Given the description of an element on the screen output the (x, y) to click on. 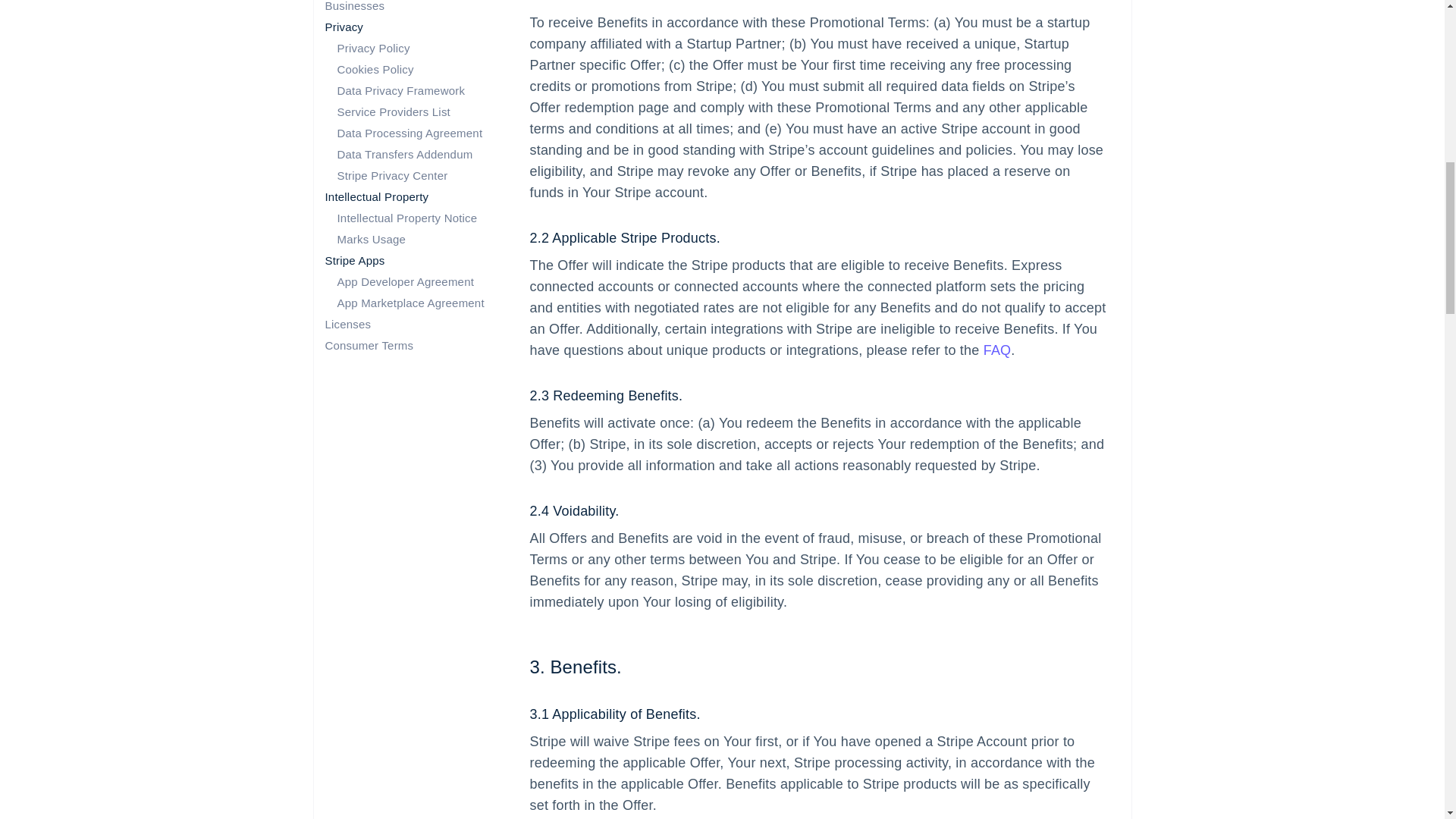
Data Processing Agreement (408, 132)
Privacy Policy (372, 47)
Intellectual Property Notice (406, 217)
Cookies Policy (374, 69)
Marks Usage (371, 238)
Data Privacy Framework (400, 90)
Service Providers List (392, 111)
Stripe Privacy Center (391, 174)
Data Transfers Addendum (403, 154)
